Given the description of an element on the screen output the (x, y) to click on. 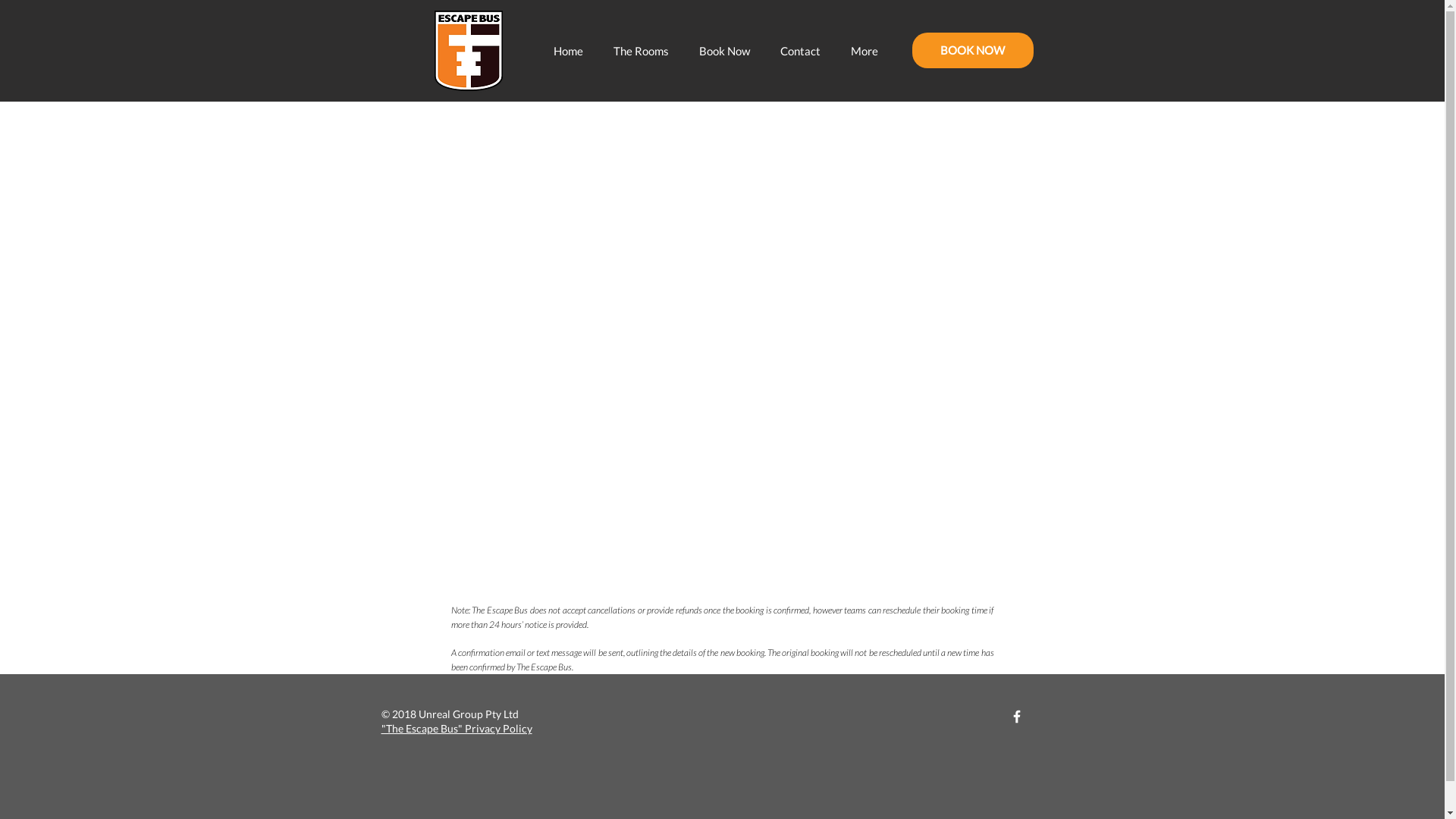
The Rooms Element type: text (640, 50)
Book Now Element type: text (724, 50)
BOOK NOW Element type: text (971, 50)
Contact Element type: text (799, 50)
"The Escape Bus" Privacy Policy Element type: text (455, 727)
Home Element type: text (568, 50)
